Given the description of an element on the screen output the (x, y) to click on. 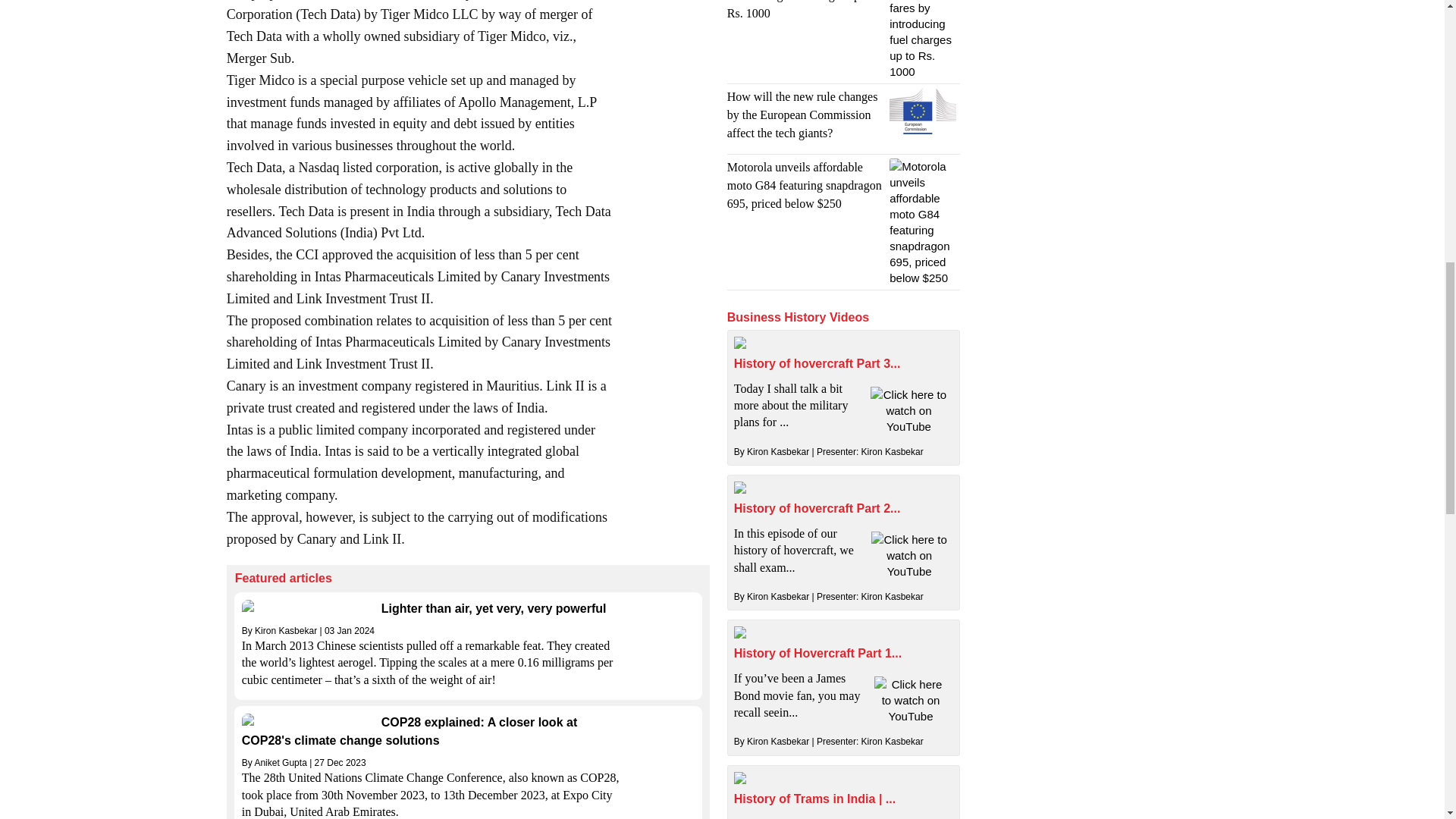
Click here to watch on YouTube (908, 555)
Click here to watch on YouTube (908, 410)
